Given the description of an element on the screen output the (x, y) to click on. 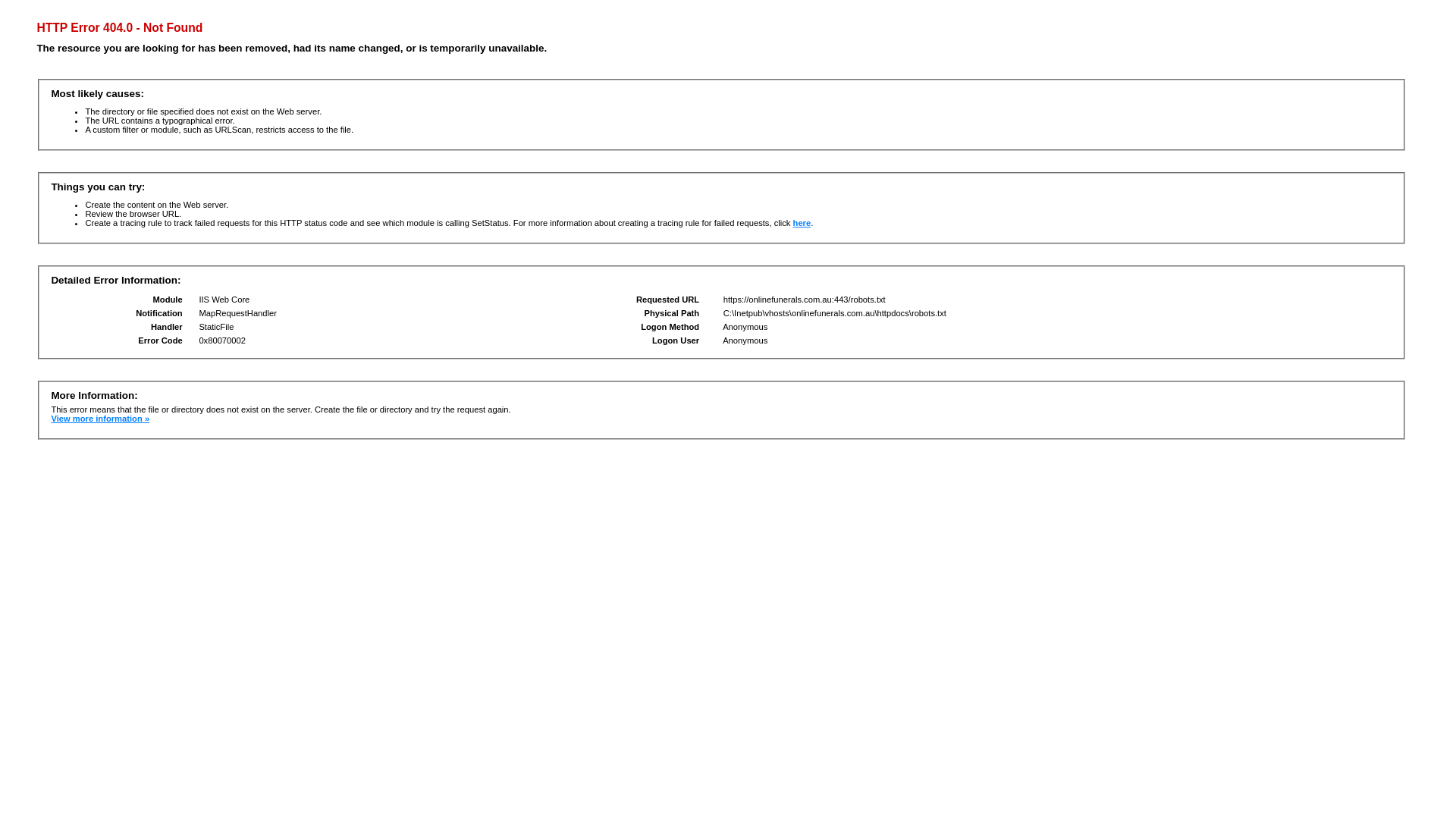
here Element type: text (802, 222)
